Given the description of an element on the screen output the (x, y) to click on. 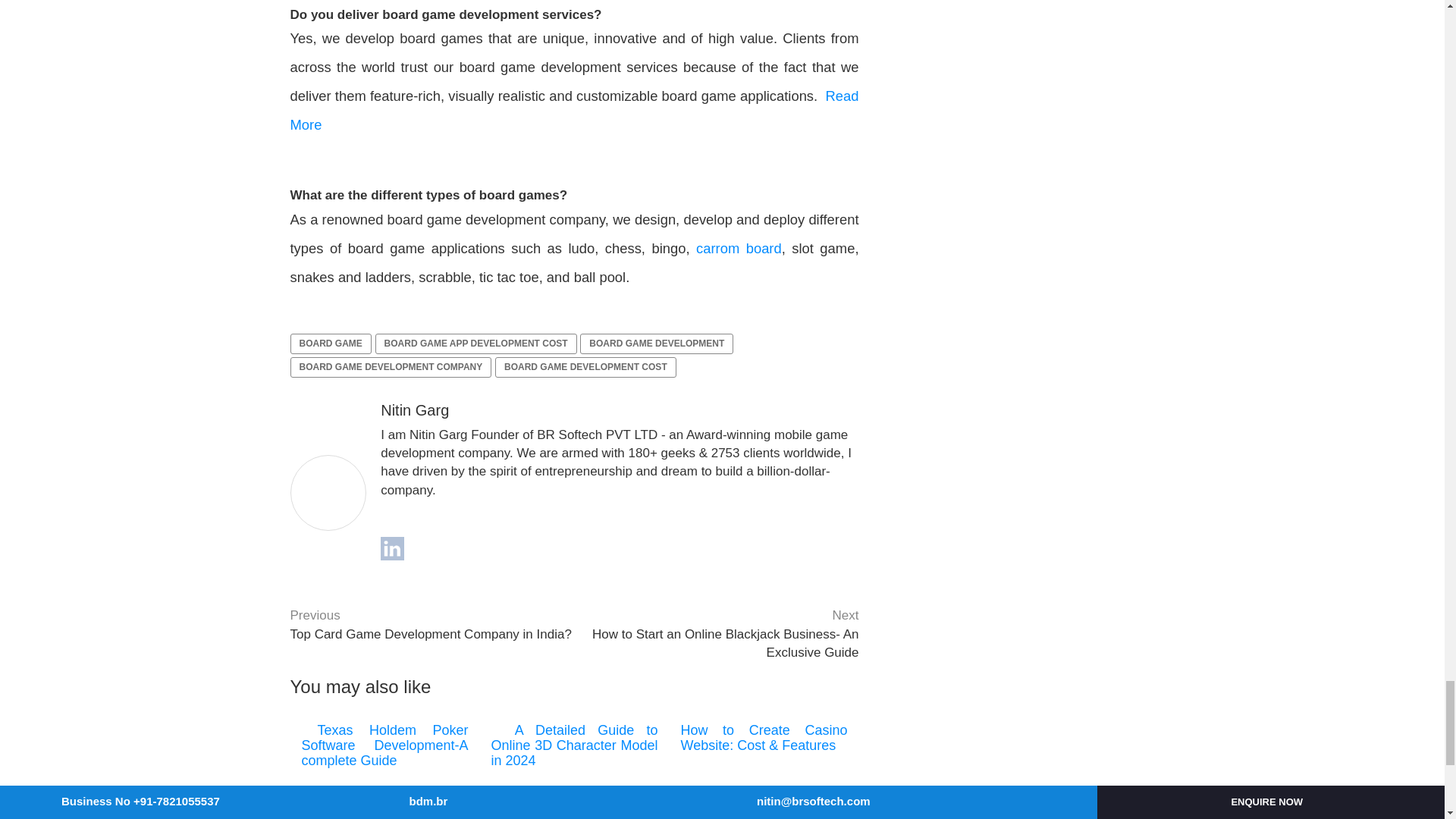
Website (414, 410)
